Given the description of an element on the screen output the (x, y) to click on. 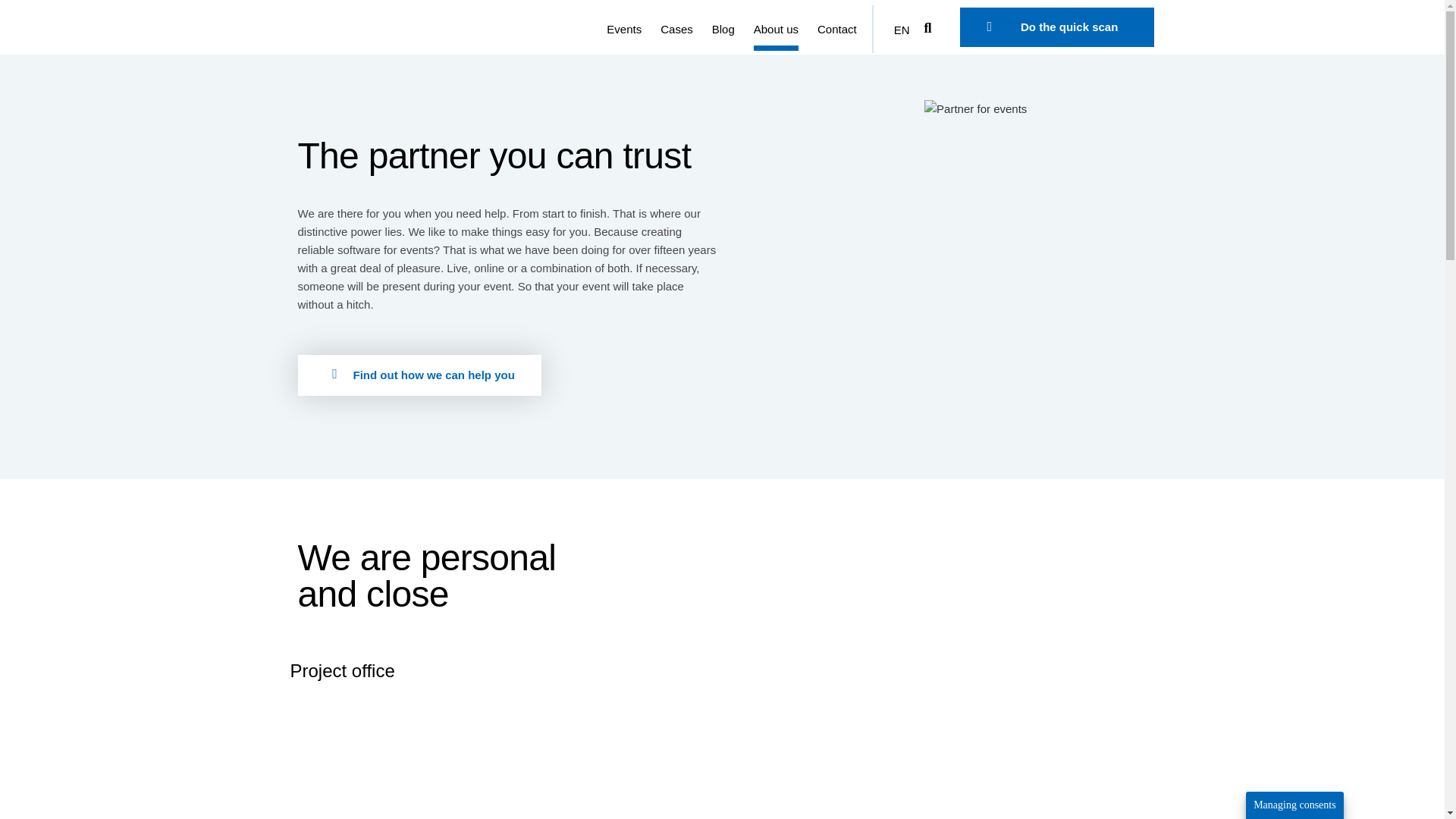
About us (775, 28)
Do the quick scan (1056, 26)
Contact (836, 28)
Find out how we can help you (418, 374)
